Given the description of an element on the screen output the (x, y) to click on. 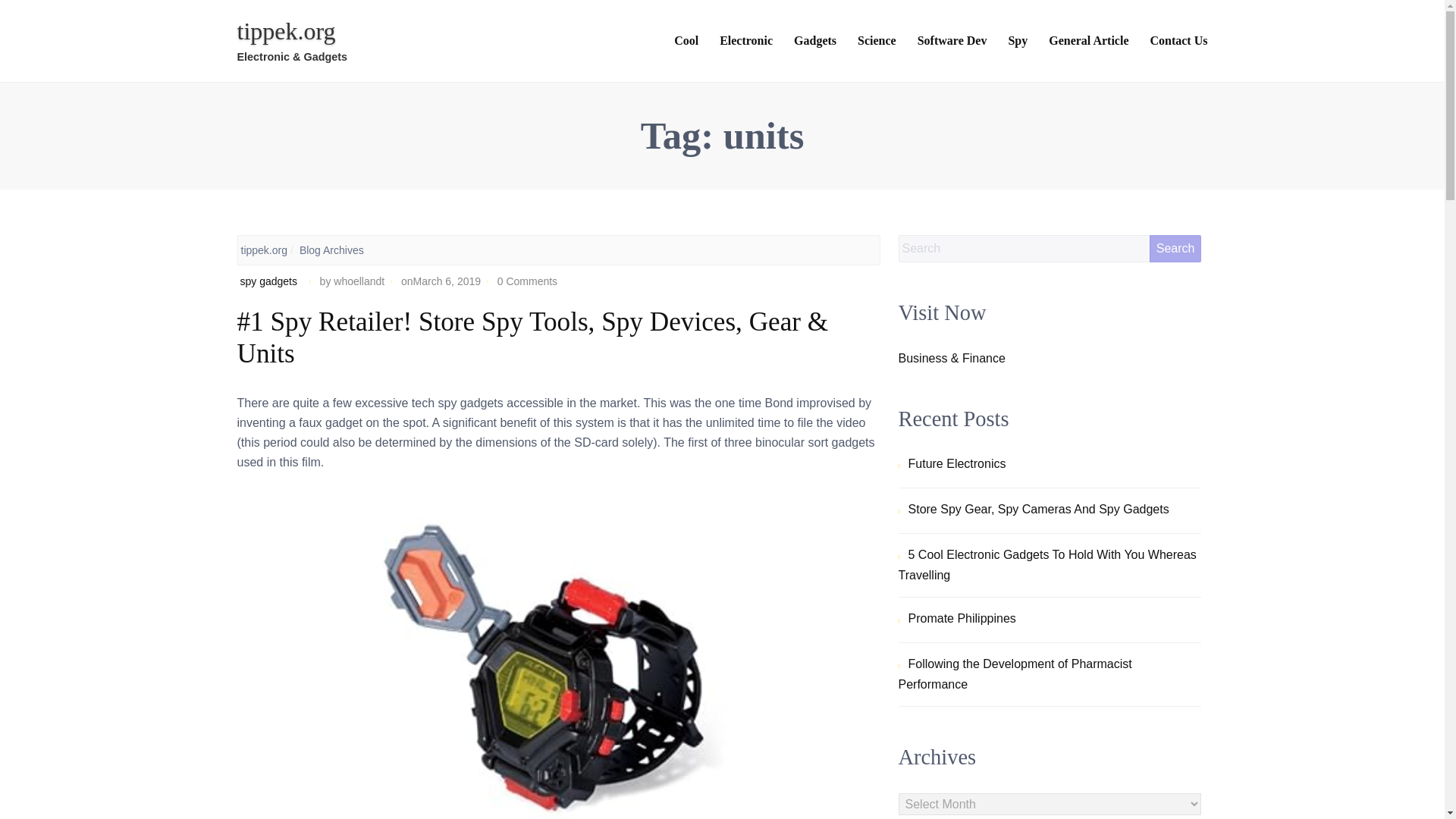
tippek.org (263, 250)
spy gadgets (268, 281)
General Article (1088, 42)
Science (876, 42)
Gadgets (814, 42)
Software Dev (952, 42)
Cool (686, 42)
tippek.org (284, 31)
Contact Us (1178, 42)
Search (1176, 248)
